Given the description of an element on the screen output the (x, y) to click on. 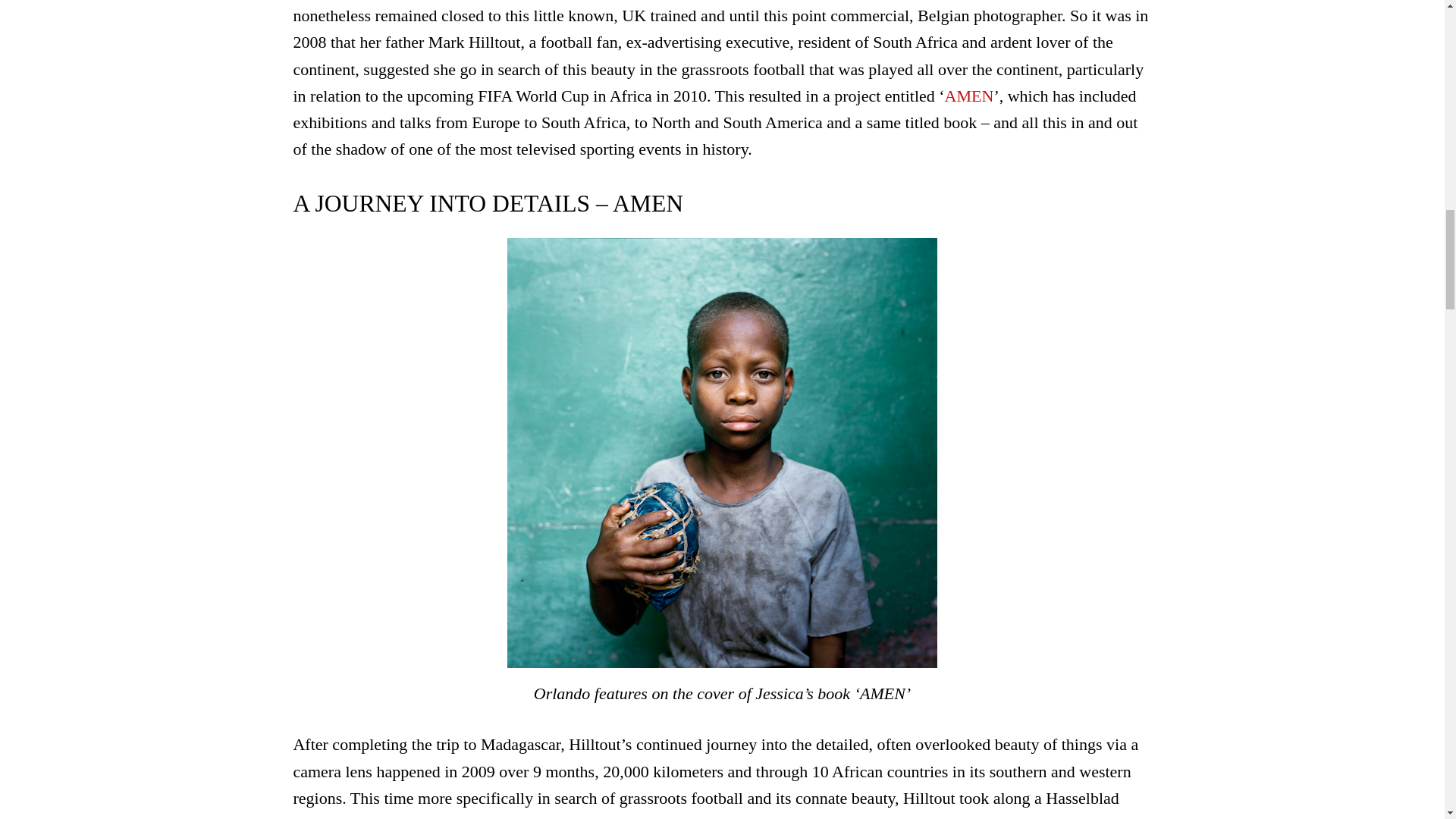
AMEN (969, 95)
